Given the description of an element on the screen output the (x, y) to click on. 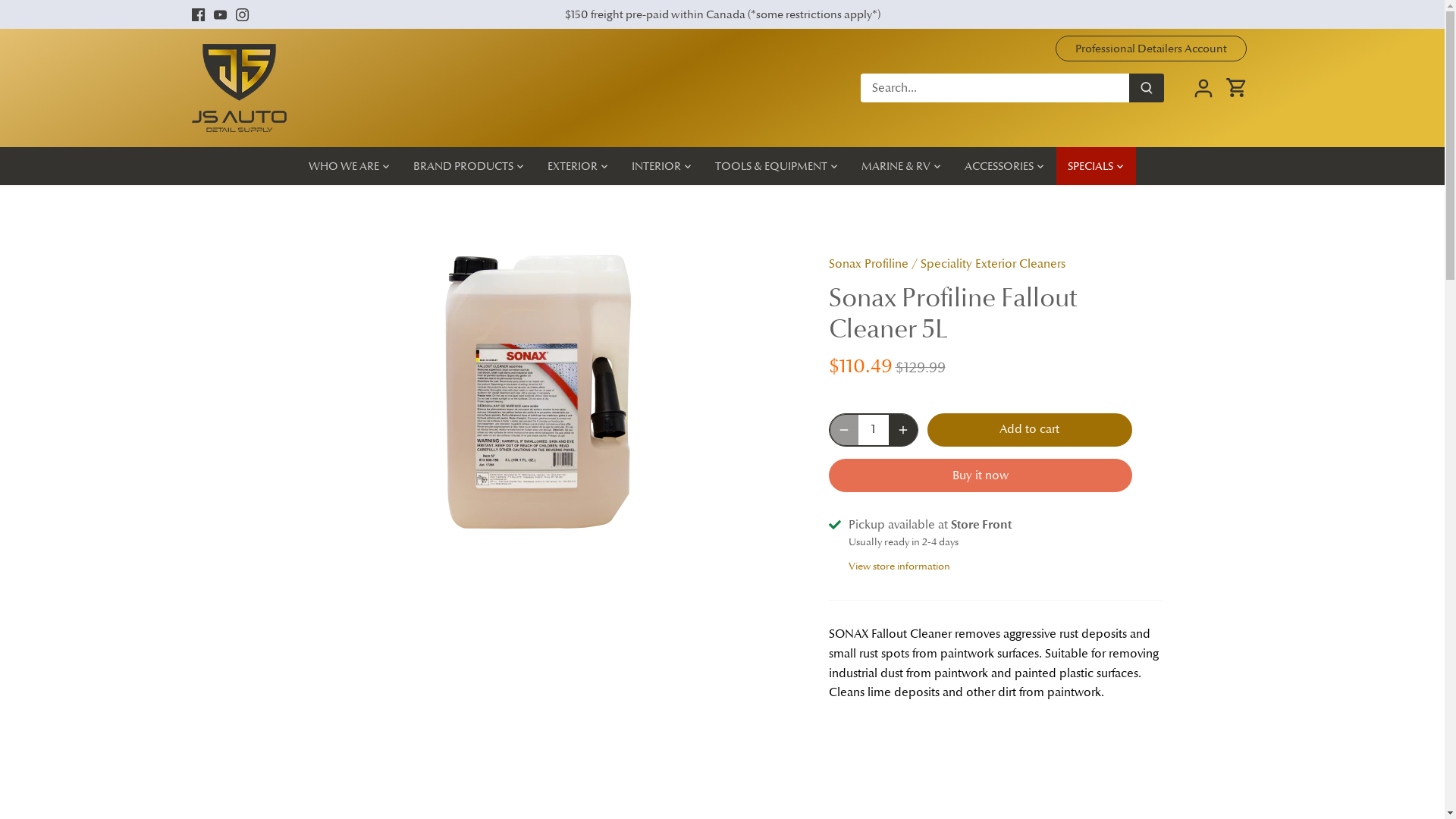
Professional Detailers Account Element type: text (1150, 48)
INTERIOR Element type: text (656, 166)
ACCESSORIES Element type: text (998, 166)
Add to cart Element type: text (1028, 429)
Youtube Element type: text (219, 14)
MARINE & RV Element type: text (895, 166)
BRAND PRODUCTS Element type: text (462, 166)
Instagram Element type: text (241, 14)
Buy it now Element type: text (979, 475)
Sonax Profiline Element type: text (867, 263)
View store information Element type: text (898, 565)
TOOLS & EQUIPMENT Element type: text (770, 166)
Go to cart Element type: hover (1236, 88)
WHO WE ARE Element type: text (349, 166)
SPECIALS Element type: text (1090, 166)
Speciality Exterior Cleaners Element type: text (992, 263)
Facebook Element type: text (197, 14)
EXTERIOR Element type: text (572, 166)
